Given the description of an element on the screen output the (x, y) to click on. 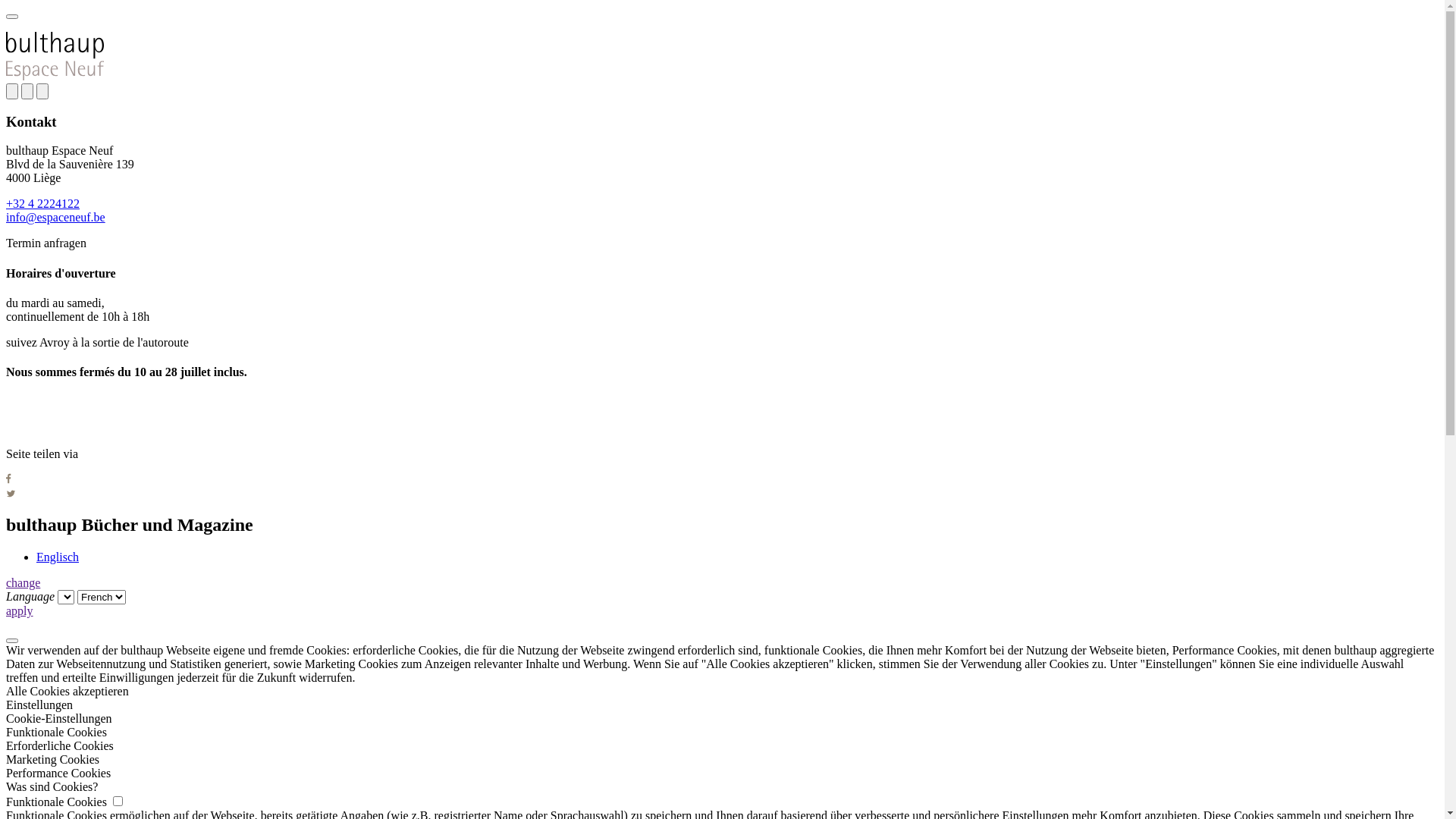
info@espaceneuf.be Element type: text (55, 216)
share Element type: hover (27, 91)
apply Element type: text (19, 610)
Performance Cookies Element type: text (722, 773)
close Element type: hover (42, 91)
change Element type: text (23, 582)
Erforderliche Cookies Element type: text (722, 746)
Auf Facebook teilen Element type: hover (8, 479)
Marketing Cookies Element type: text (722, 759)
Was sind Cookies? Element type: text (722, 786)
Funktionale Cookies Element type: text (722, 732)
Englisch Element type: text (57, 556)
+32 4 2224122 Element type: text (42, 203)
